Given the description of an element on the screen output the (x, y) to click on. 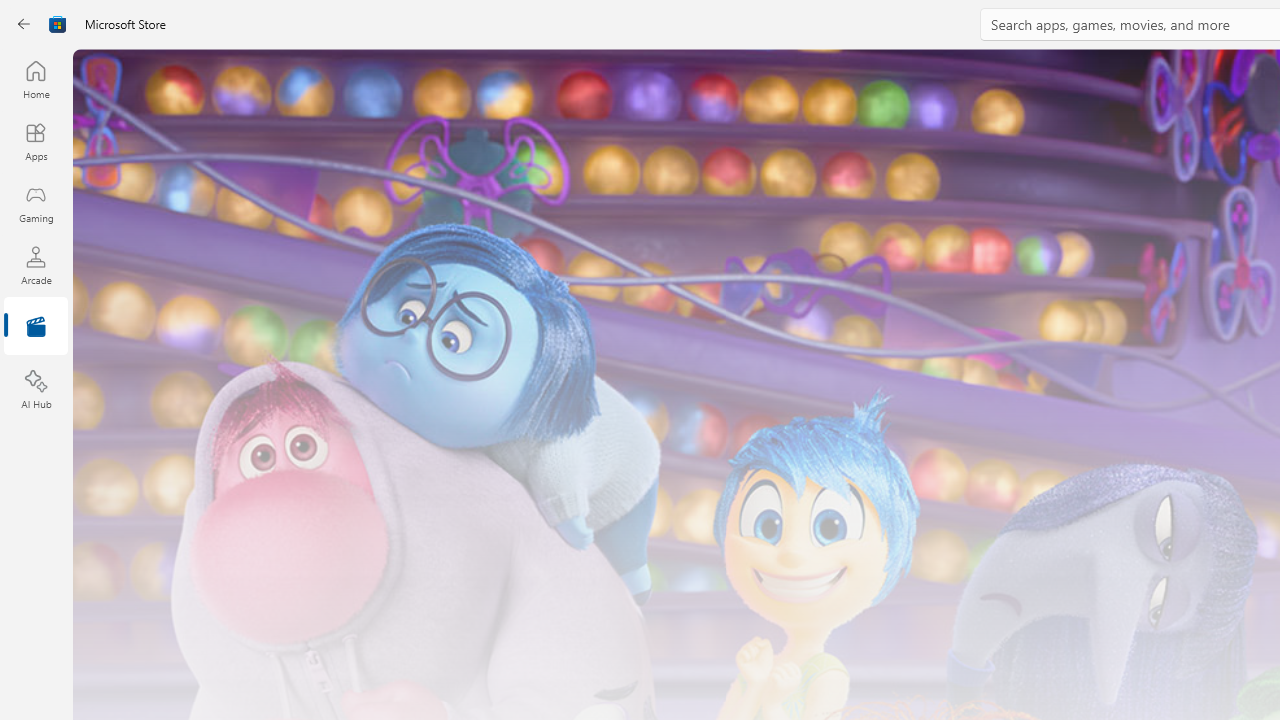
Home (35, 79)
Gaming (35, 203)
Entertainment (35, 327)
Arcade (35, 265)
AI Hub (35, 390)
Back (24, 24)
